Given the description of an element on the screen output the (x, y) to click on. 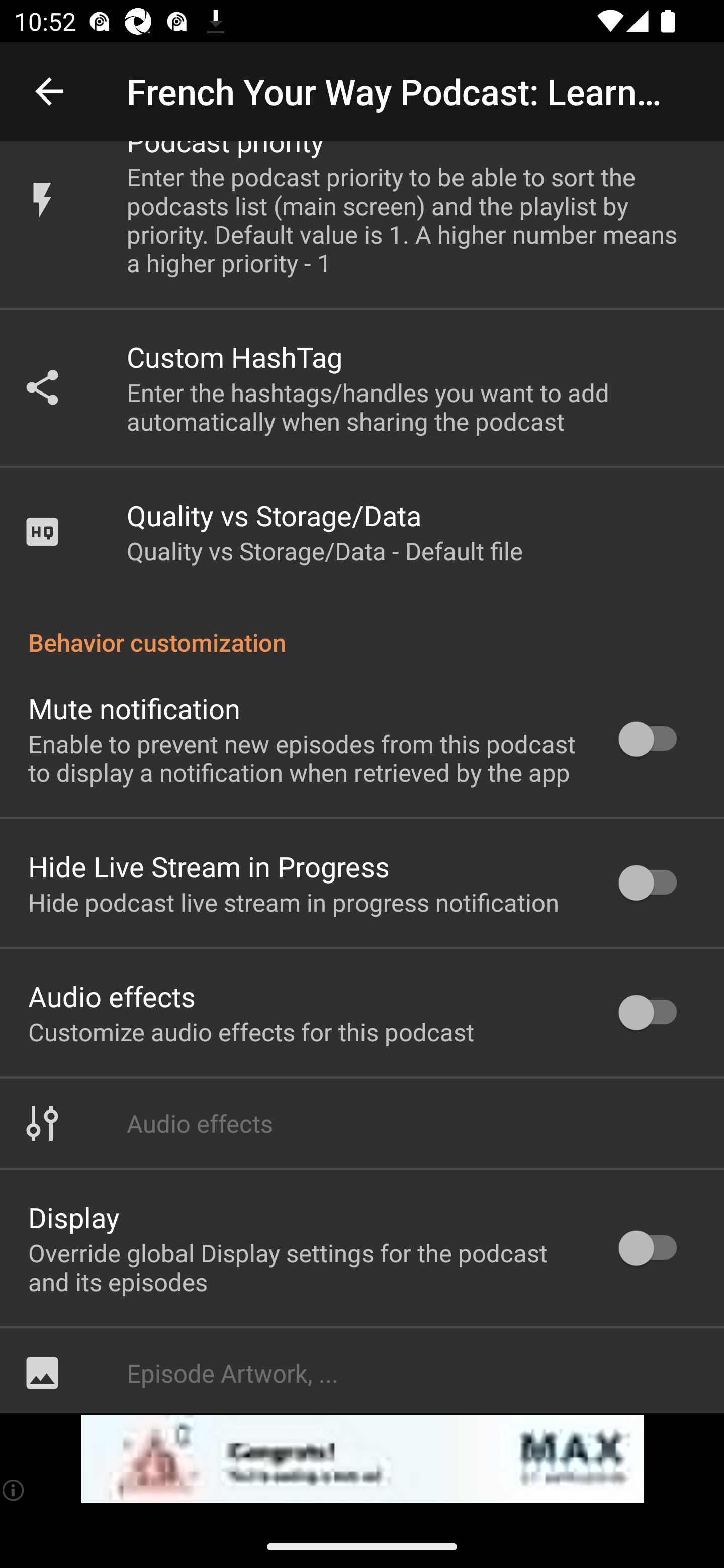
Navigate up (49, 91)
Audio effects (362, 1123)
Episode Artwork, ... (362, 1370)
app-monetization (362, 1459)
(i) (14, 1489)
